Given the description of an element on the screen output the (x, y) to click on. 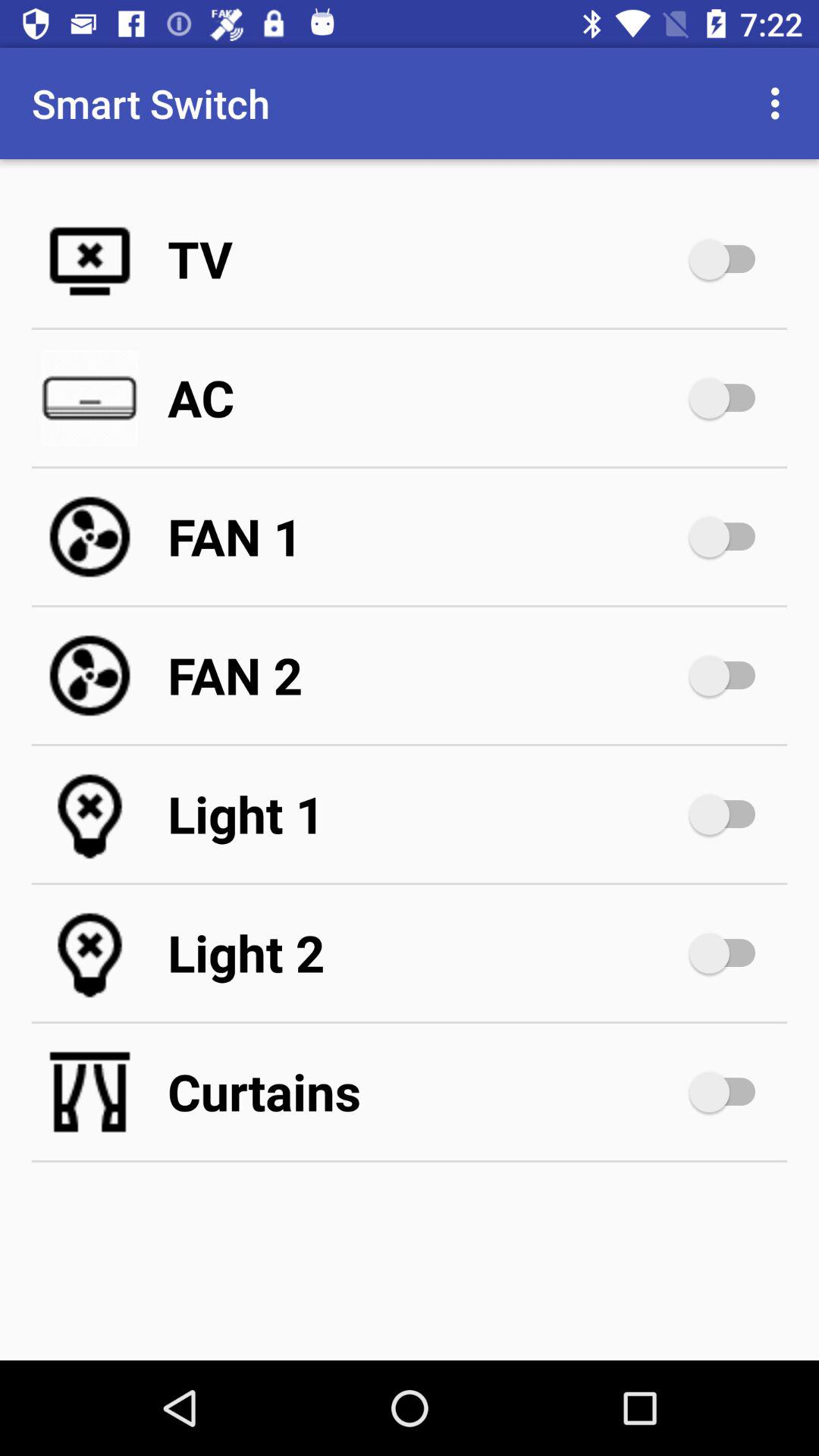
turn on the item below tv item (424, 397)
